Given the description of an element on the screen output the (x, y) to click on. 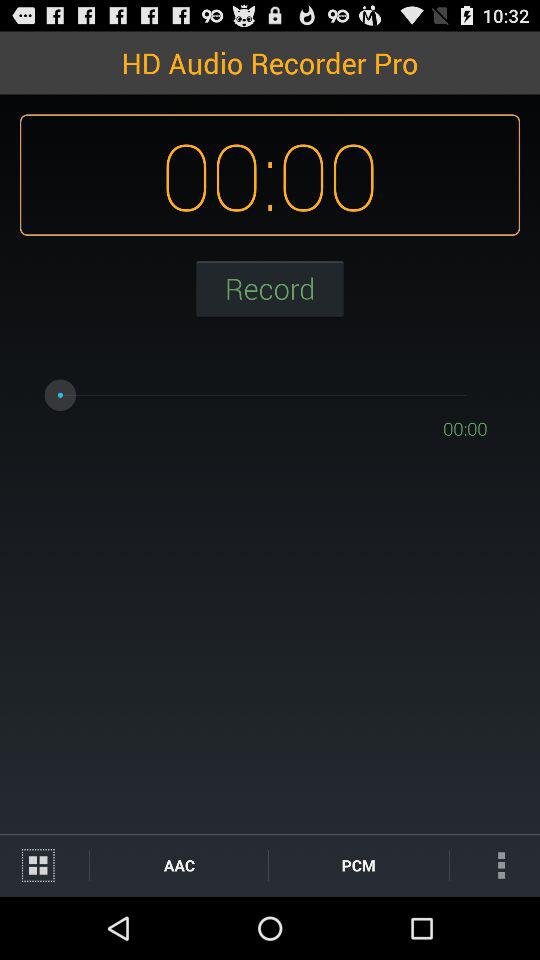
turn off the icon below the 00:00 icon (494, 864)
